Given the description of an element on the screen output the (x, y) to click on. 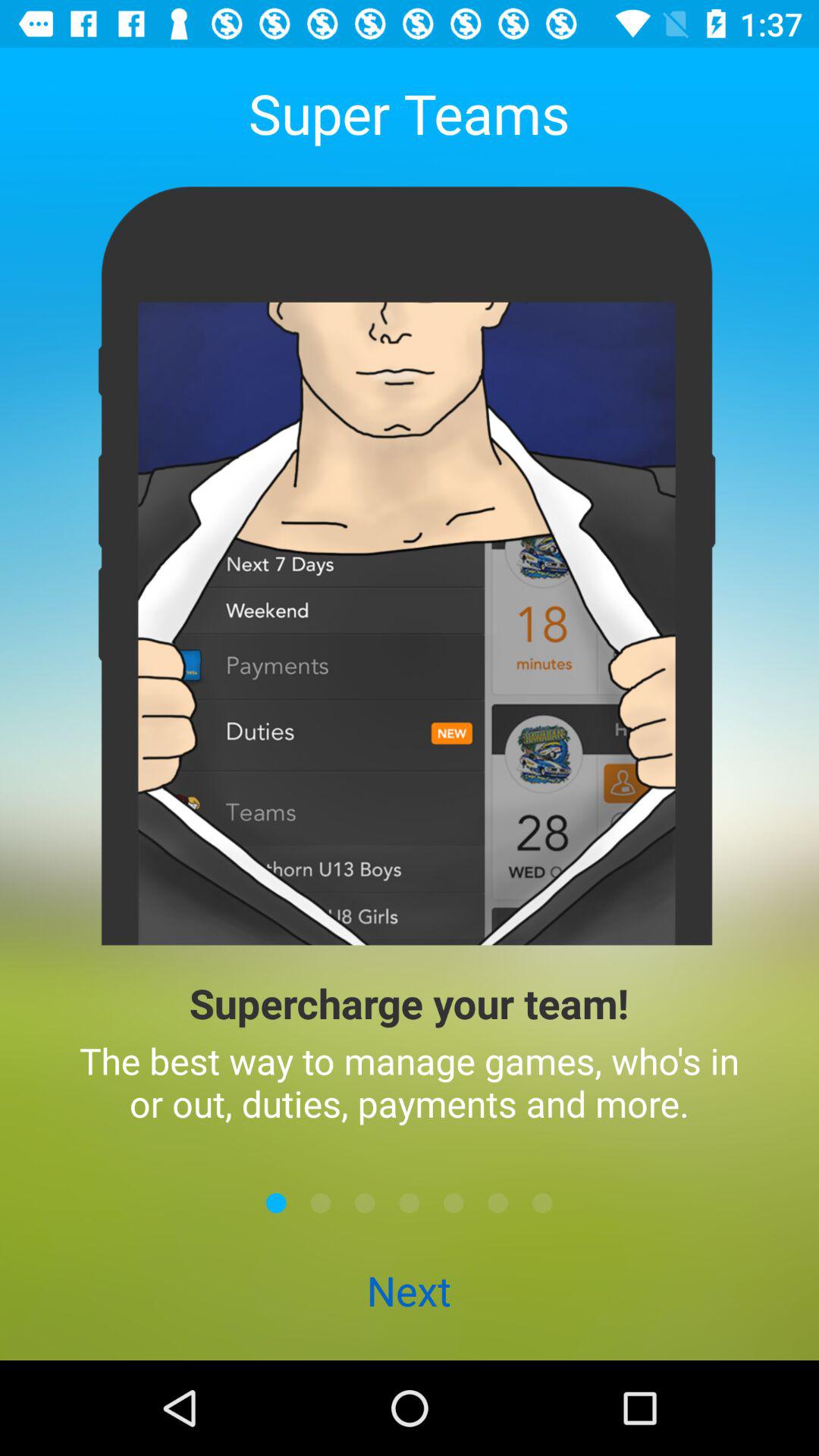
open the icon above the next (276, 1203)
